Given the description of an element on the screen output the (x, y) to click on. 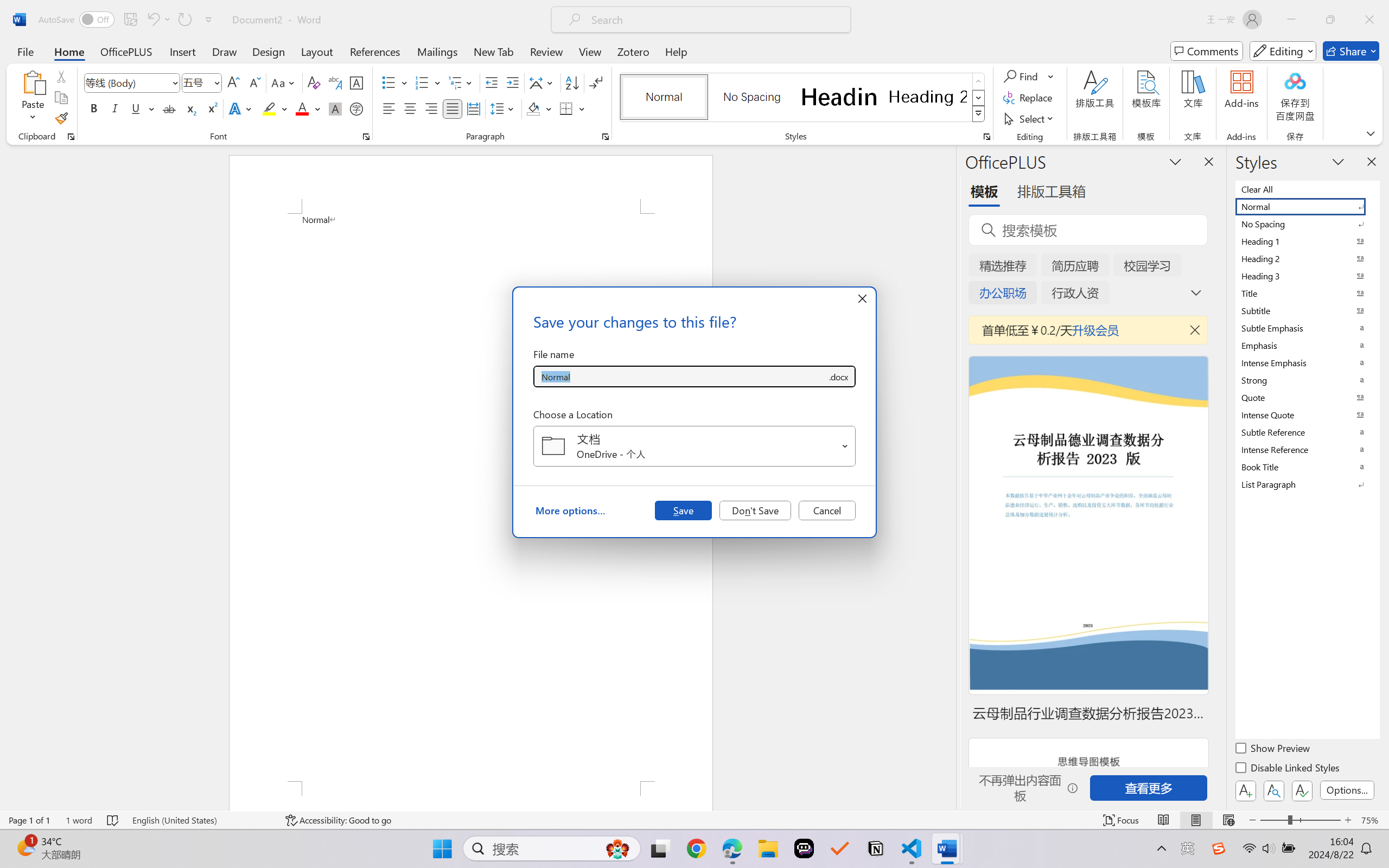
Styles... (986, 136)
Align Left (388, 108)
Multilevel List (461, 82)
No Spacing (1306, 223)
Undo Apply Quick Style (158, 19)
Save as type (837, 376)
Zotero (632, 51)
Zoom (1300, 819)
Help (675, 51)
Borders (571, 108)
Mode (1283, 50)
Numbering (428, 82)
Justify (452, 108)
